Given the description of an element on the screen output the (x, y) to click on. 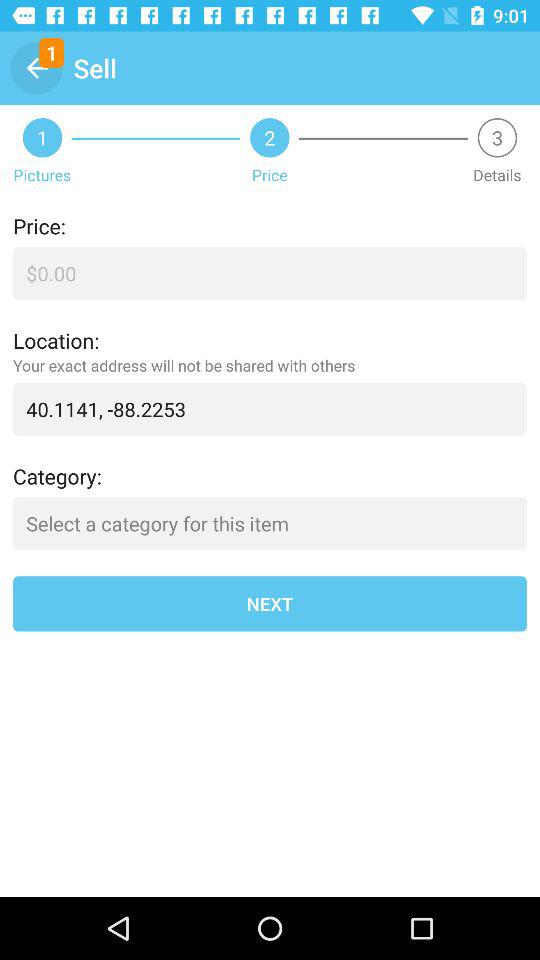
press item to the left of the sell (36, 68)
